Given the description of an element on the screen output the (x, y) to click on. 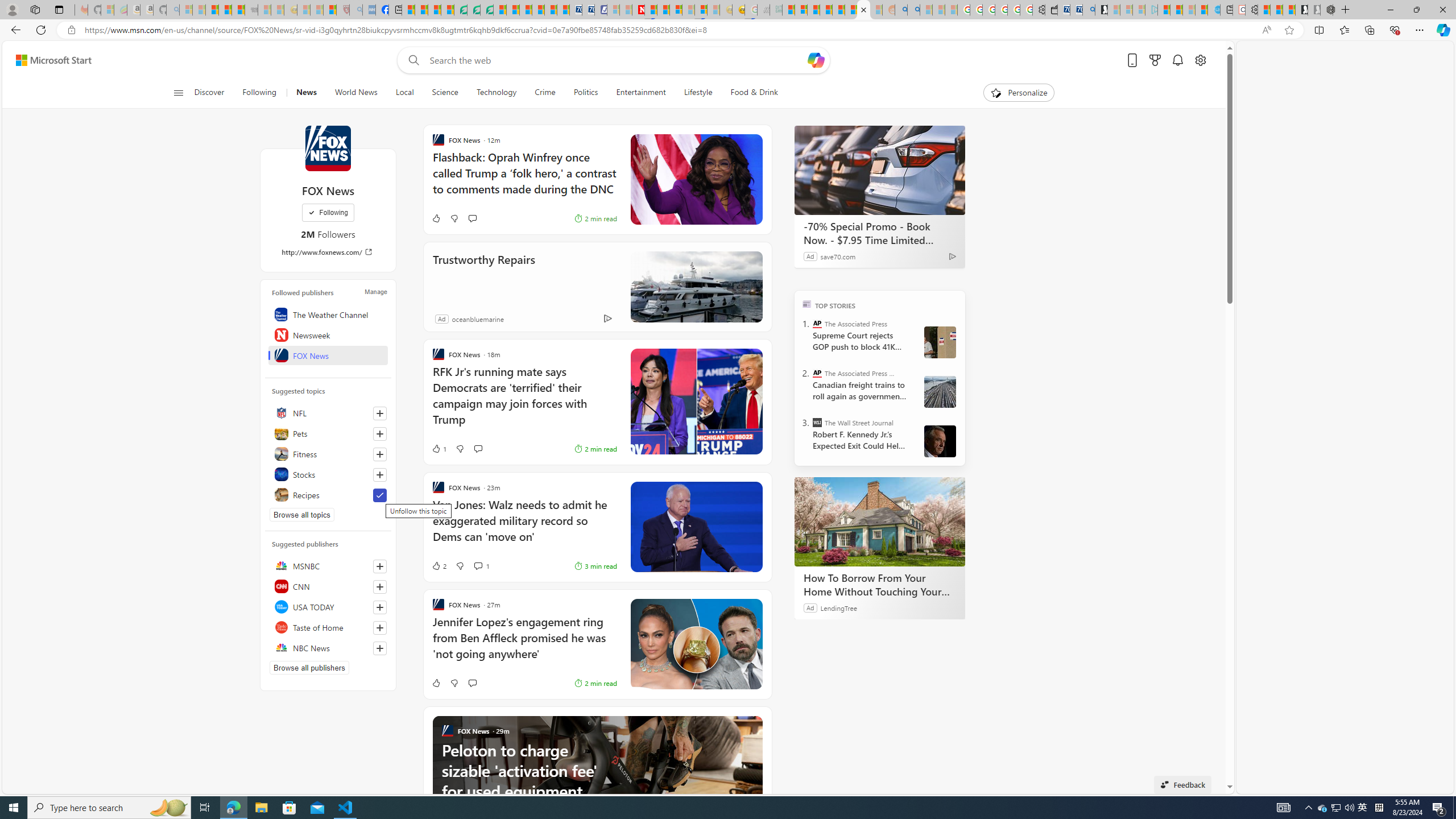
 Canada Railroads Unions (940, 391)
NBC News (327, 647)
Follow this source (379, 648)
